Given the description of an element on the screen output the (x, y) to click on. 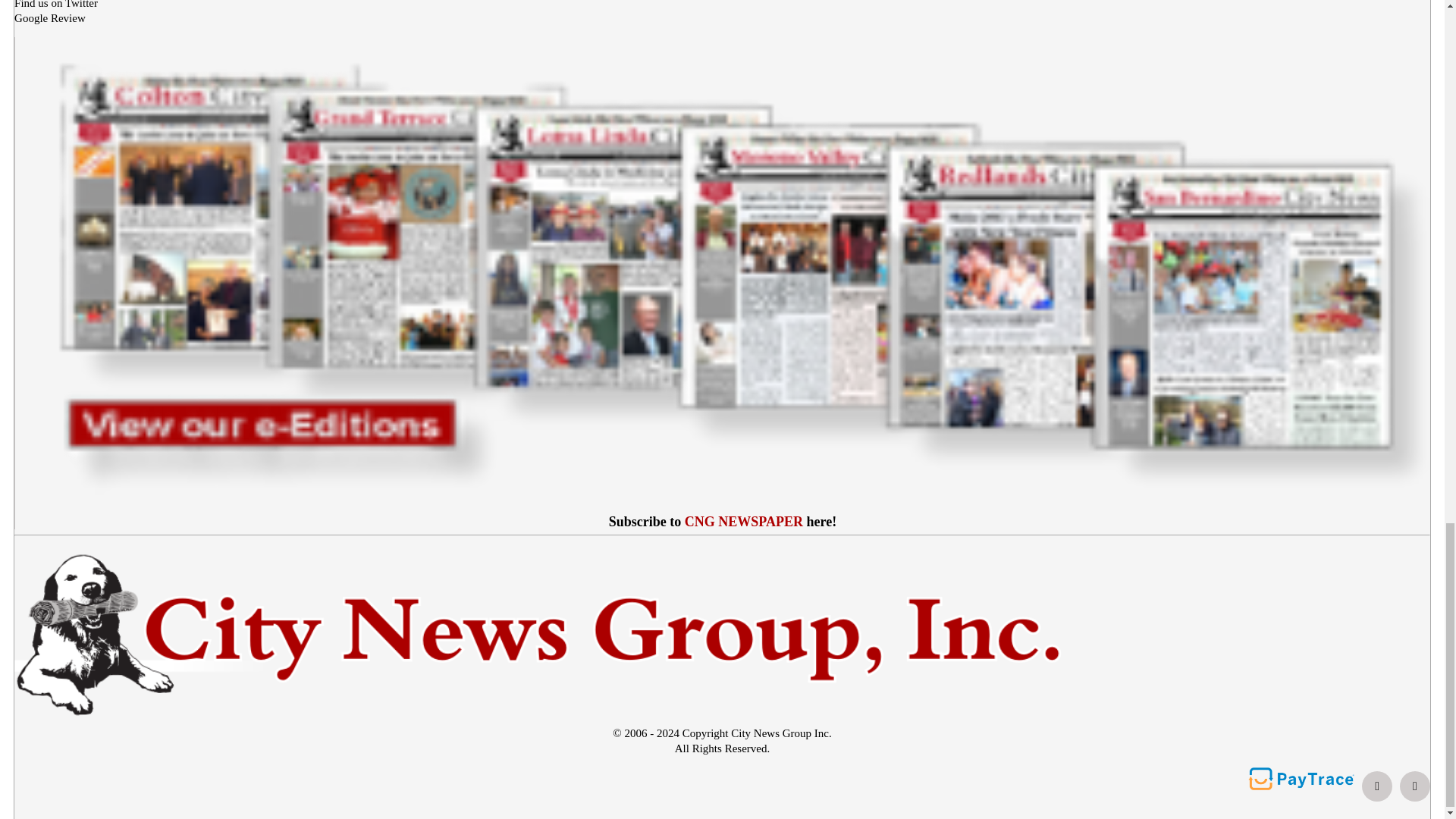
Paytrace (1300, 778)
